Given the description of an element on the screen output the (x, y) to click on. 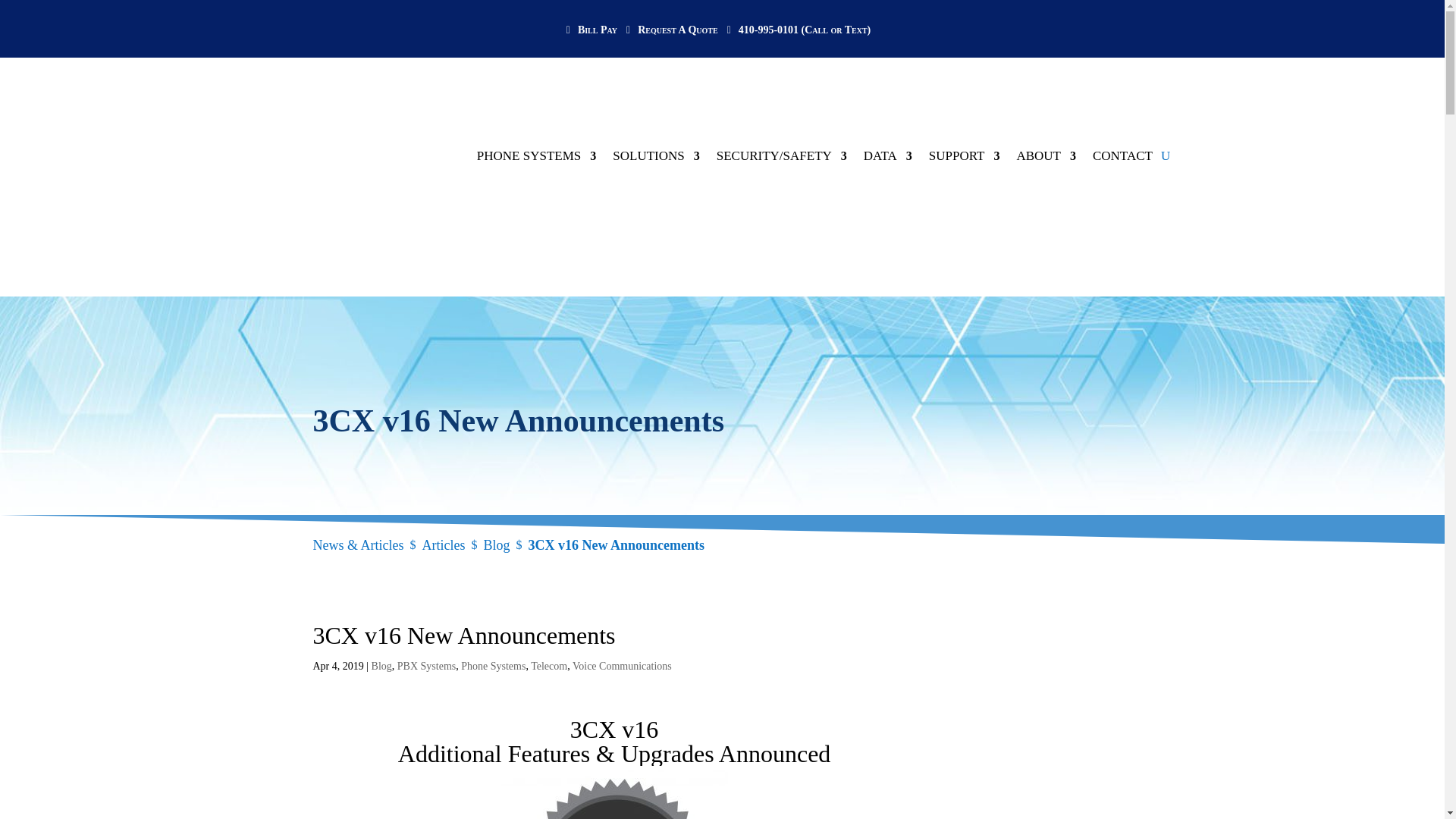
Request A Quote (675, 41)
Bill Pay (595, 41)
